Given the description of an element on the screen output the (x, y) to click on. 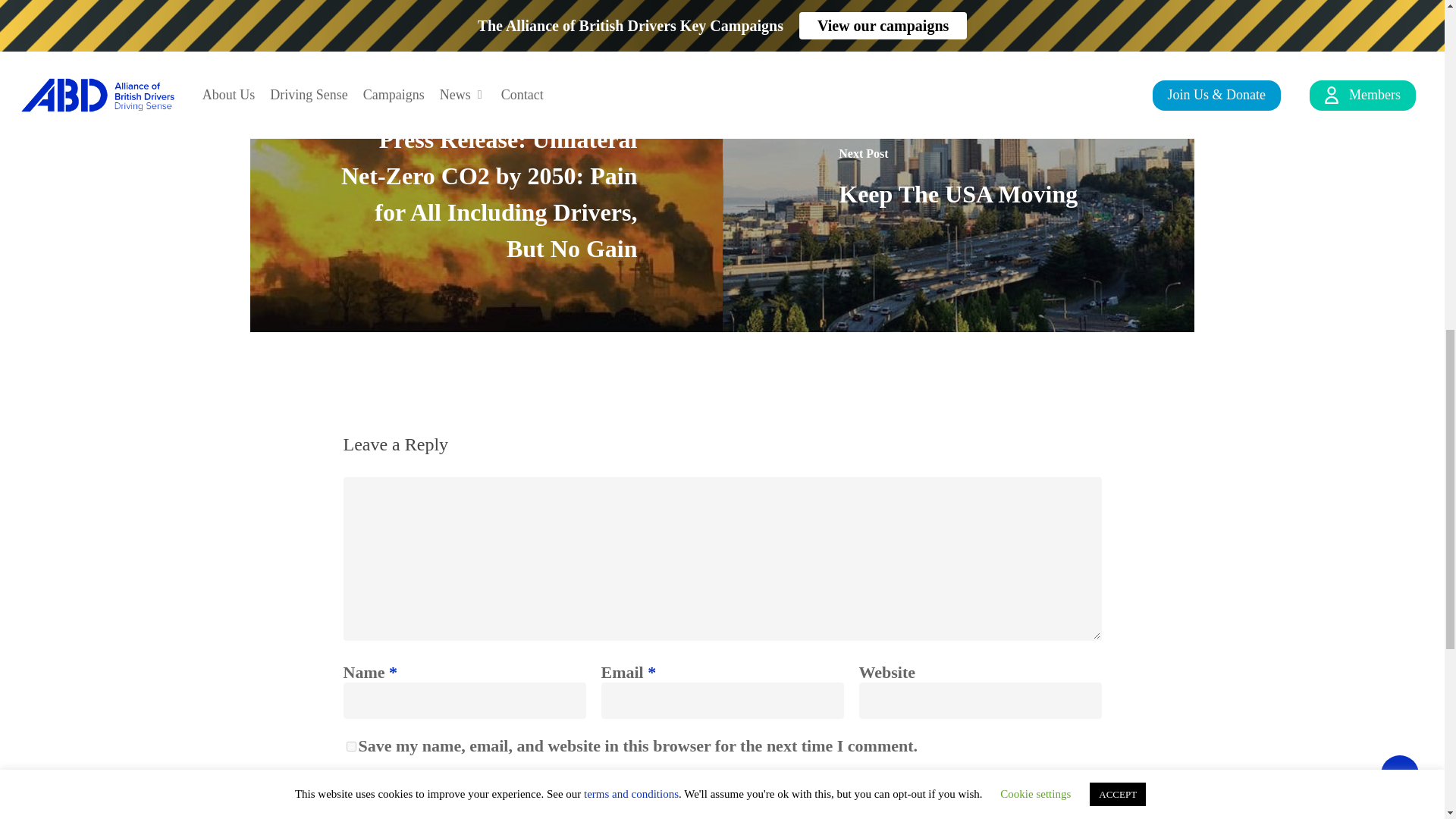
Submit Comment (399, 808)
Submit Comment (399, 808)
yes (350, 746)
